Given the description of an element on the screen output the (x, y) to click on. 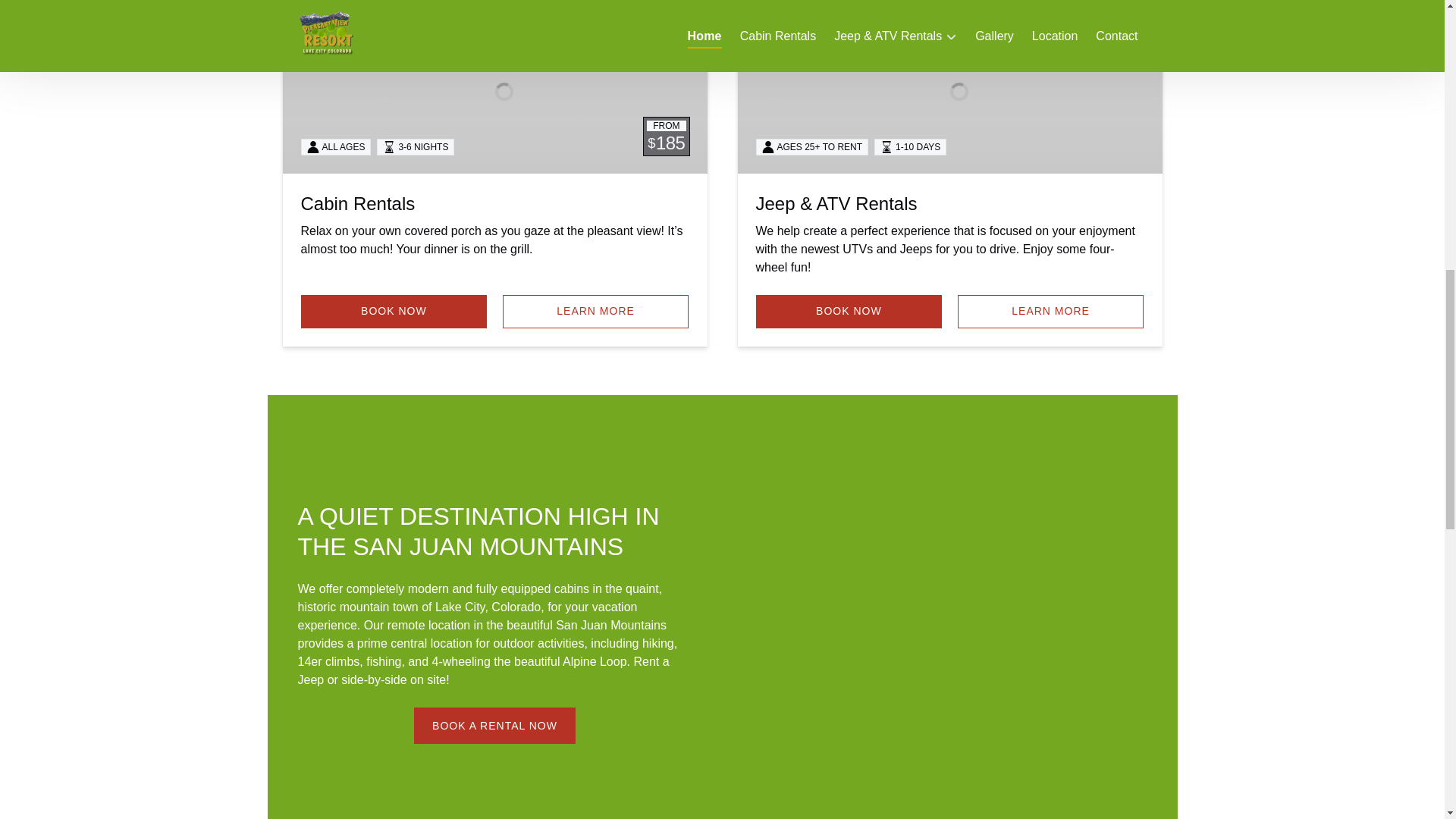
BOOK NOW (392, 311)
BOOK NOW (848, 311)
BOOK A RENTAL NOW (494, 716)
LEARN MORE (595, 311)
LEARN MORE (1051, 311)
activity link (948, 86)
Cabin Rentals (356, 203)
activity link (494, 86)
FareHarbor (1342, 64)
